Given the description of an element on the screen output the (x, y) to click on. 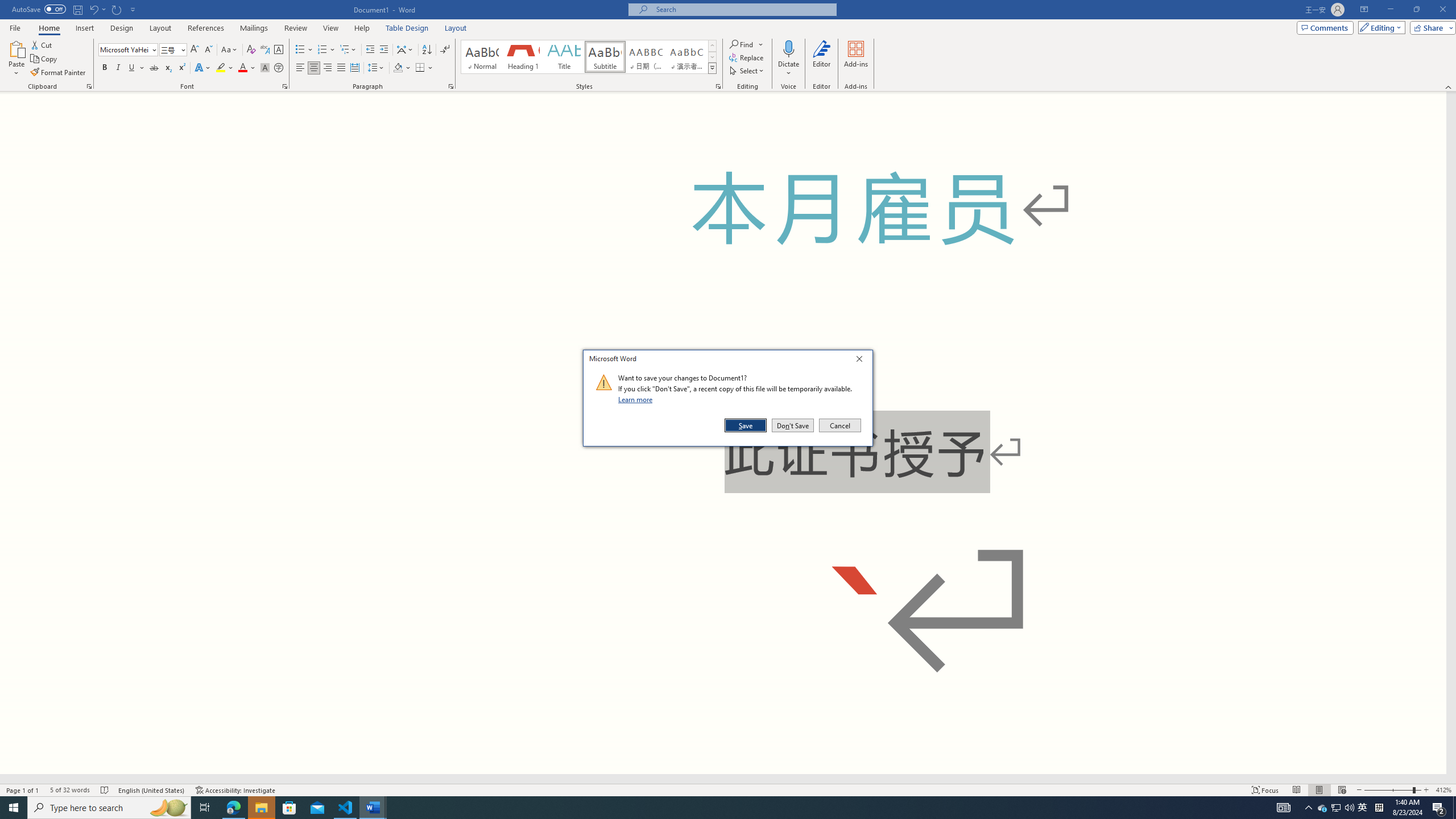
Word - 2 running windows (373, 807)
Class: MsoCommandBar (728, 45)
Sort... (1362, 807)
Task View (426, 49)
Font Color (204, 807)
Microsoft Store (246, 67)
Line and Paragraph Spacing (289, 807)
Font Color Red (376, 67)
Learn more (241, 67)
